Given the description of an element on the screen output the (x, y) to click on. 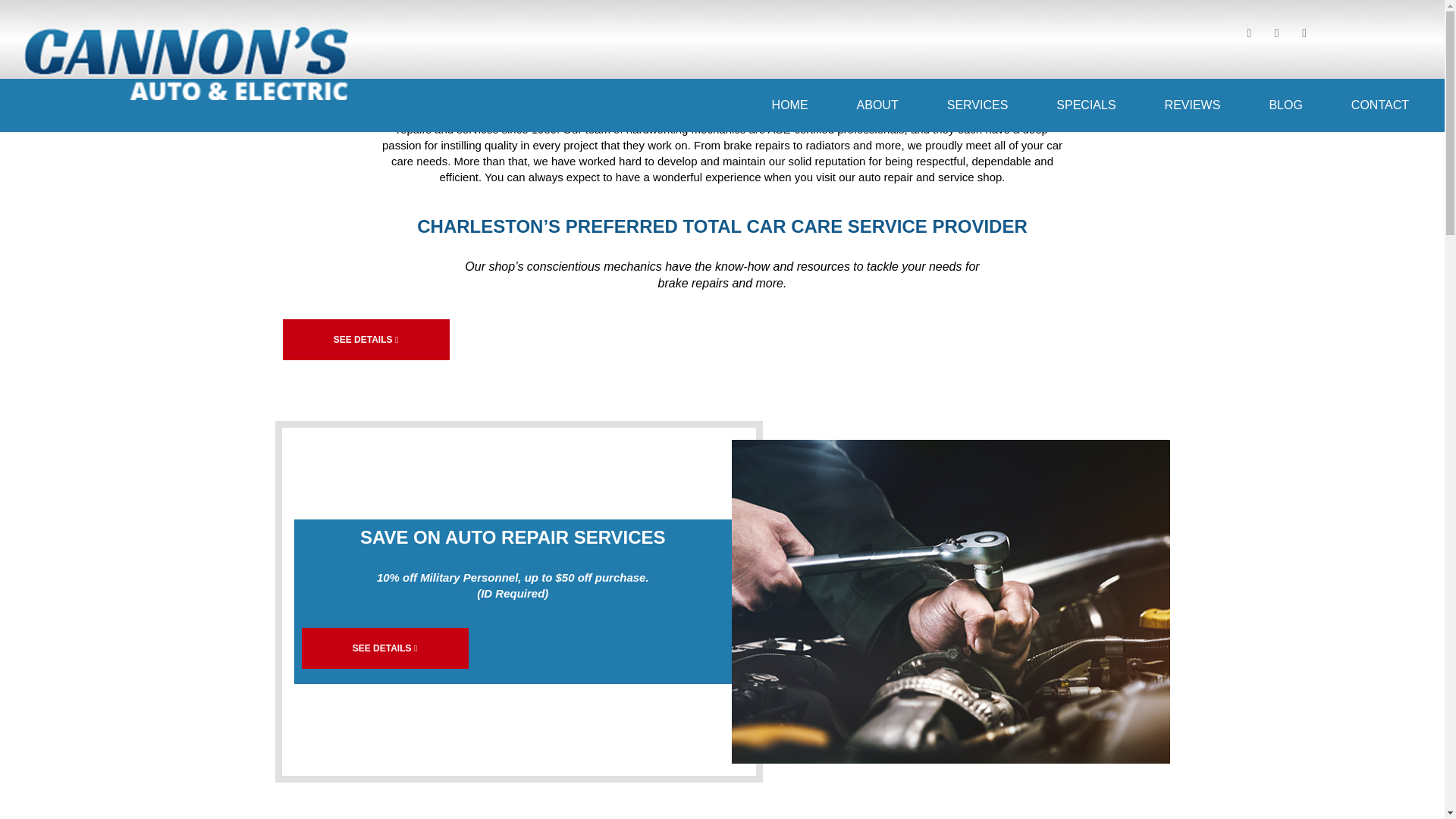
HOME (790, 104)
ABOUT (877, 104)
SEE DETAILS (384, 648)
BLOG (1285, 104)
REVIEWS (1192, 104)
SPECIALS (1086, 104)
CONTACT (1379, 104)
SEE DETAILS (365, 339)
SERVICES (977, 104)
